Given the description of an element on the screen output the (x, y) to click on. 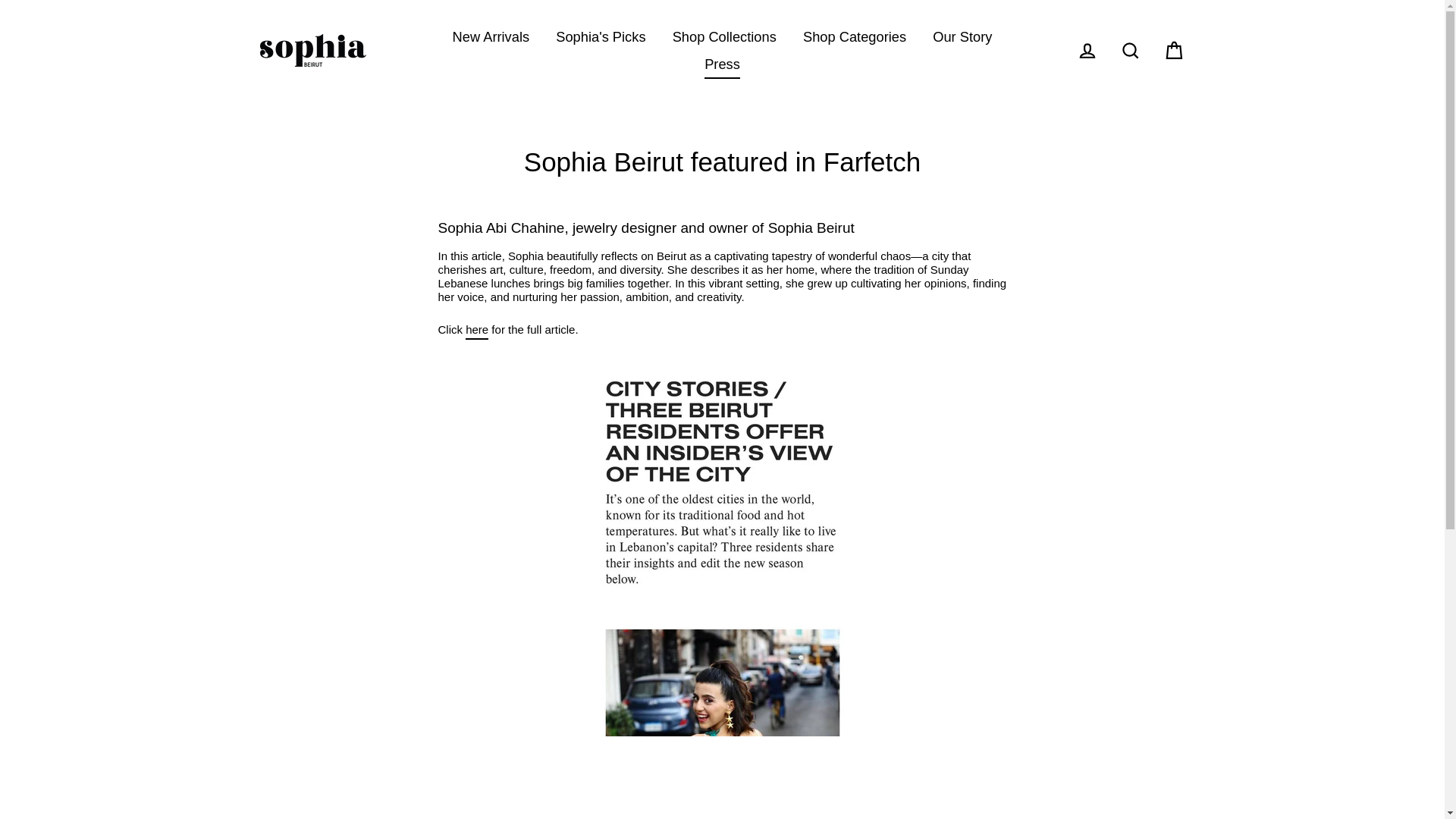
Sophia's Picks (600, 36)
New Arrivals (491, 36)
Shop Collections (724, 36)
